Given the description of an element on the screen output the (x, y) to click on. 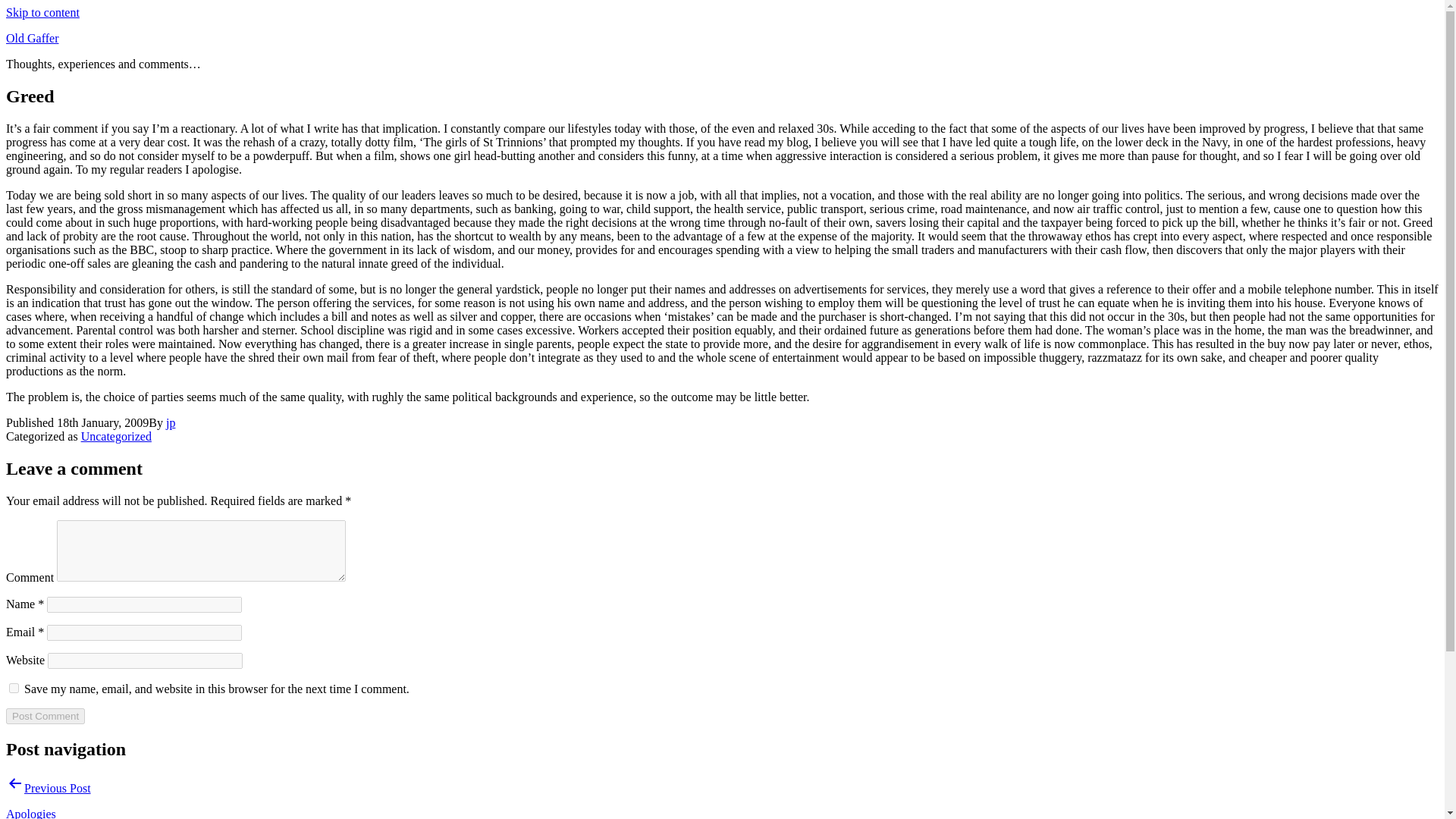
Uncategorized (116, 436)
Post Comment (44, 715)
Post Comment (44, 715)
Skip to content (42, 11)
yes (13, 687)
Old Gaffer (31, 38)
